Given the description of an element on the screen output the (x, y) to click on. 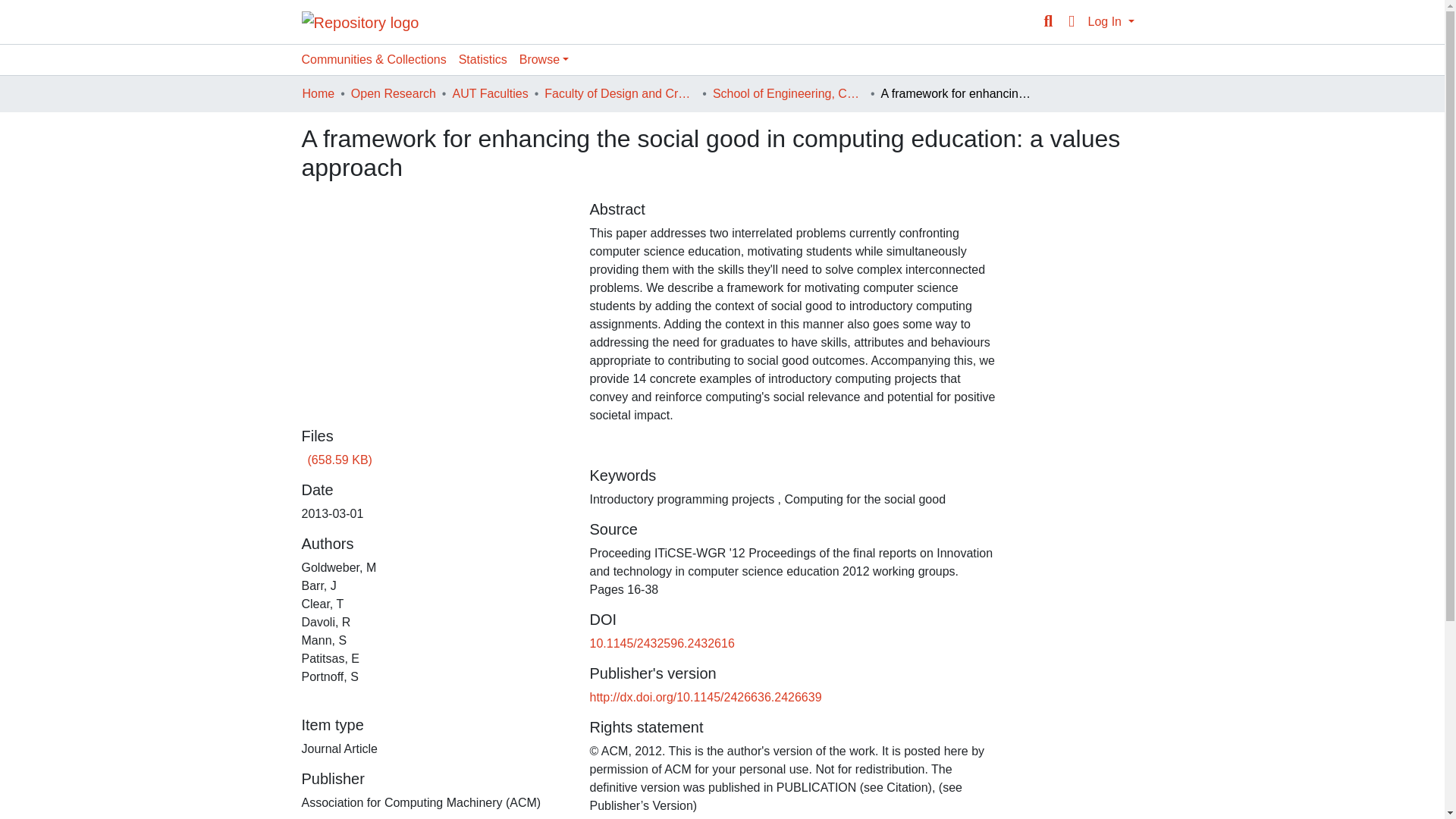
Open Research (392, 94)
AUT Faculties (489, 94)
Search (1048, 22)
Statistics (482, 60)
Home (317, 94)
Browse (544, 60)
Log In (1110, 21)
Language switch (1071, 22)
Statistics (482, 60)
